Given the description of an element on the screen output the (x, y) to click on. 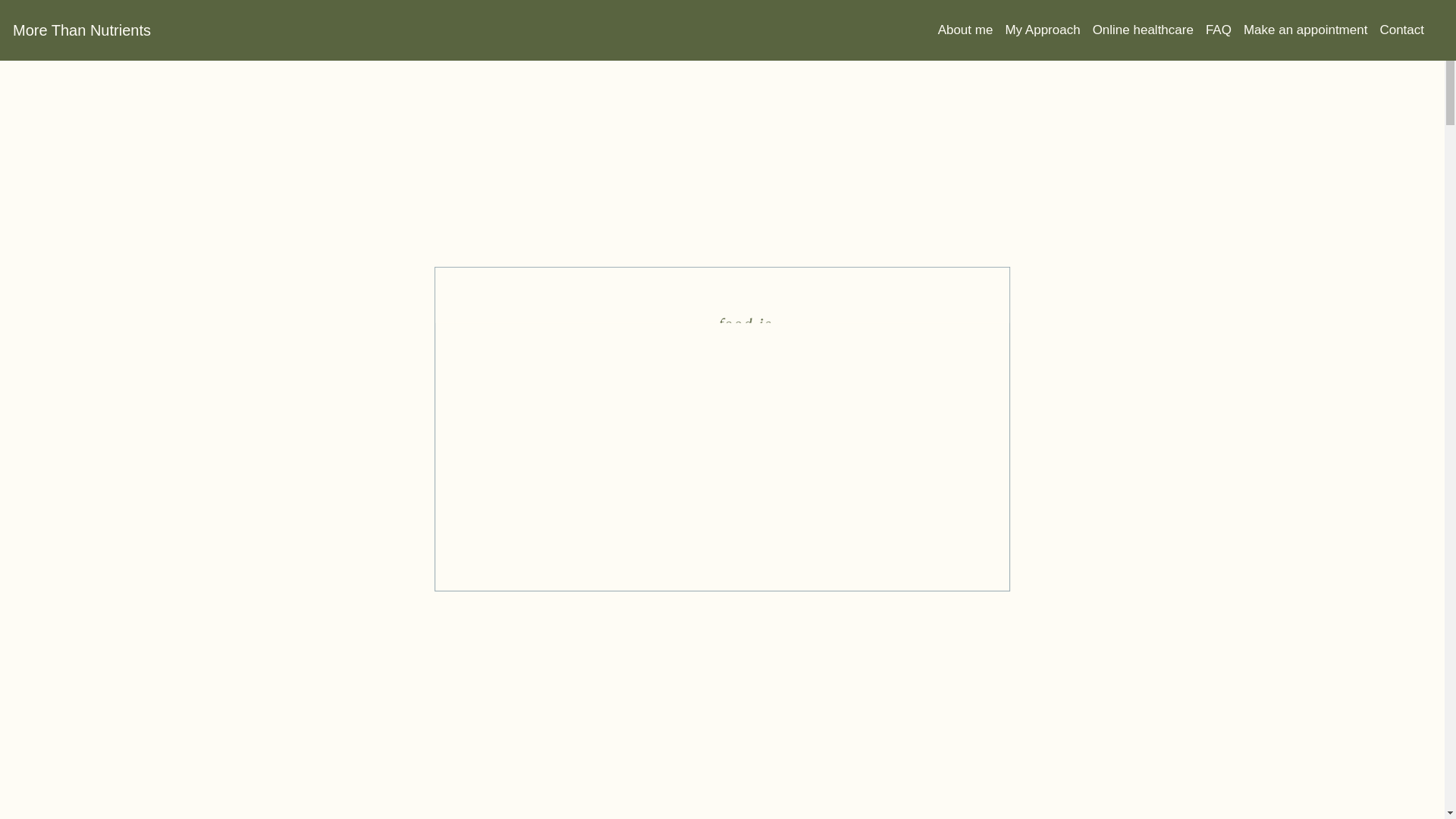
Online healthcare (1149, 29)
More Than Nutrients (82, 30)
About me (971, 29)
Make an appointment (1312, 29)
My Approach (1048, 29)
Contact (1407, 29)
